Given the description of an element on the screen output the (x, y) to click on. 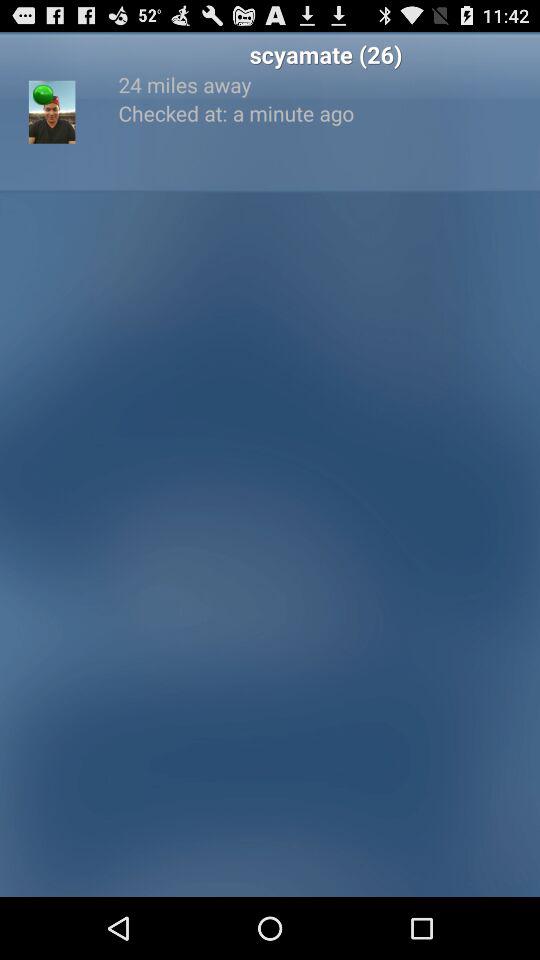
click the app above the 24 miles away app (325, 54)
